Given the description of an element on the screen output the (x, y) to click on. 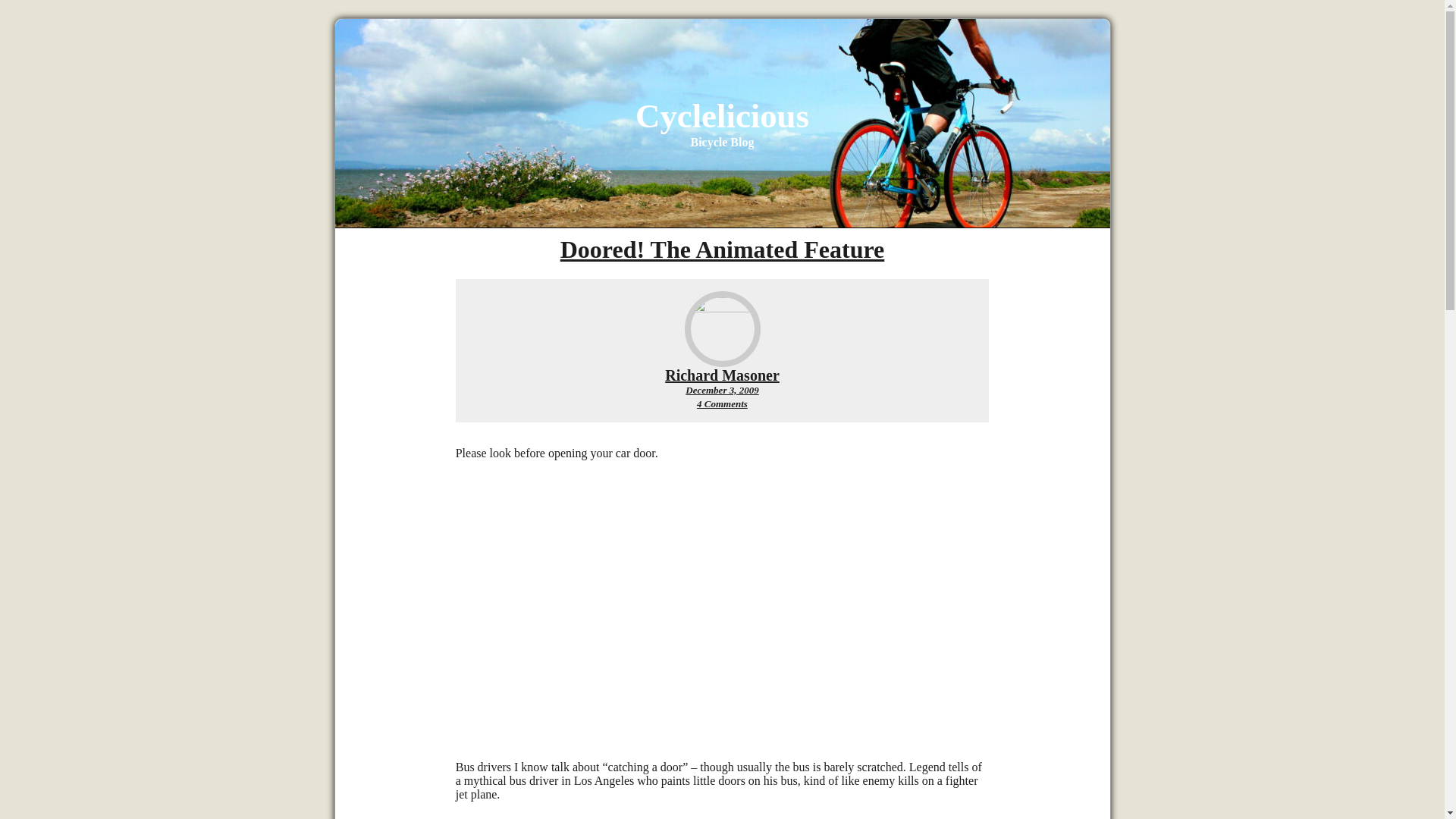
Cyclelicious (721, 116)
5:02 pm (721, 389)
Richard Masoner (722, 403)
December 3, 2009 (721, 375)
Doored! The Animated Feature (721, 389)
View all posts by Richard Masoner (722, 248)
